Given the description of an element on the screen output the (x, y) to click on. 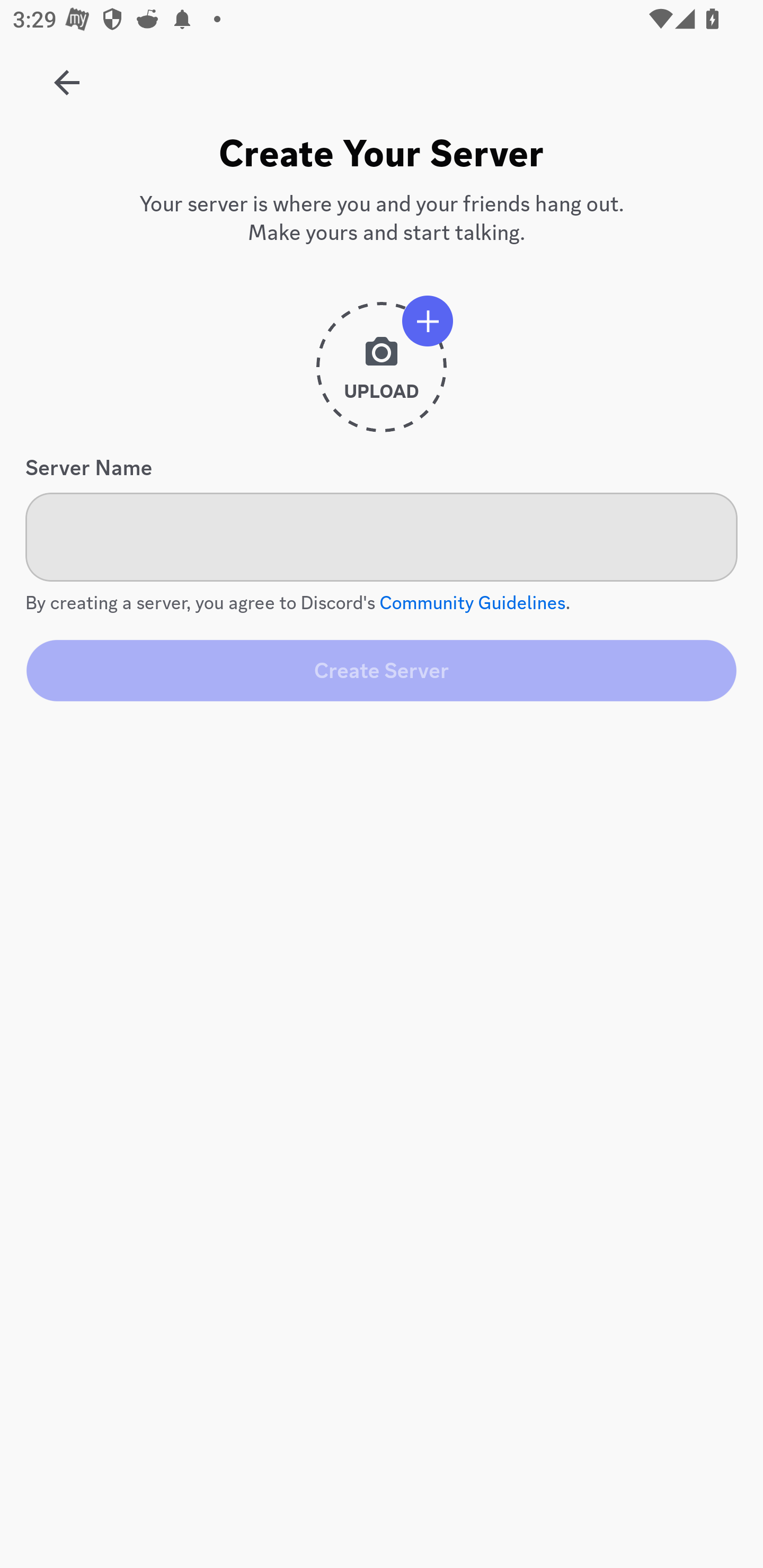
Add a Server (57, 75)
Upload Image UPLOAD (381, 373)
Create Server (381, 670)
